Given the description of an element on the screen output the (x, y) to click on. 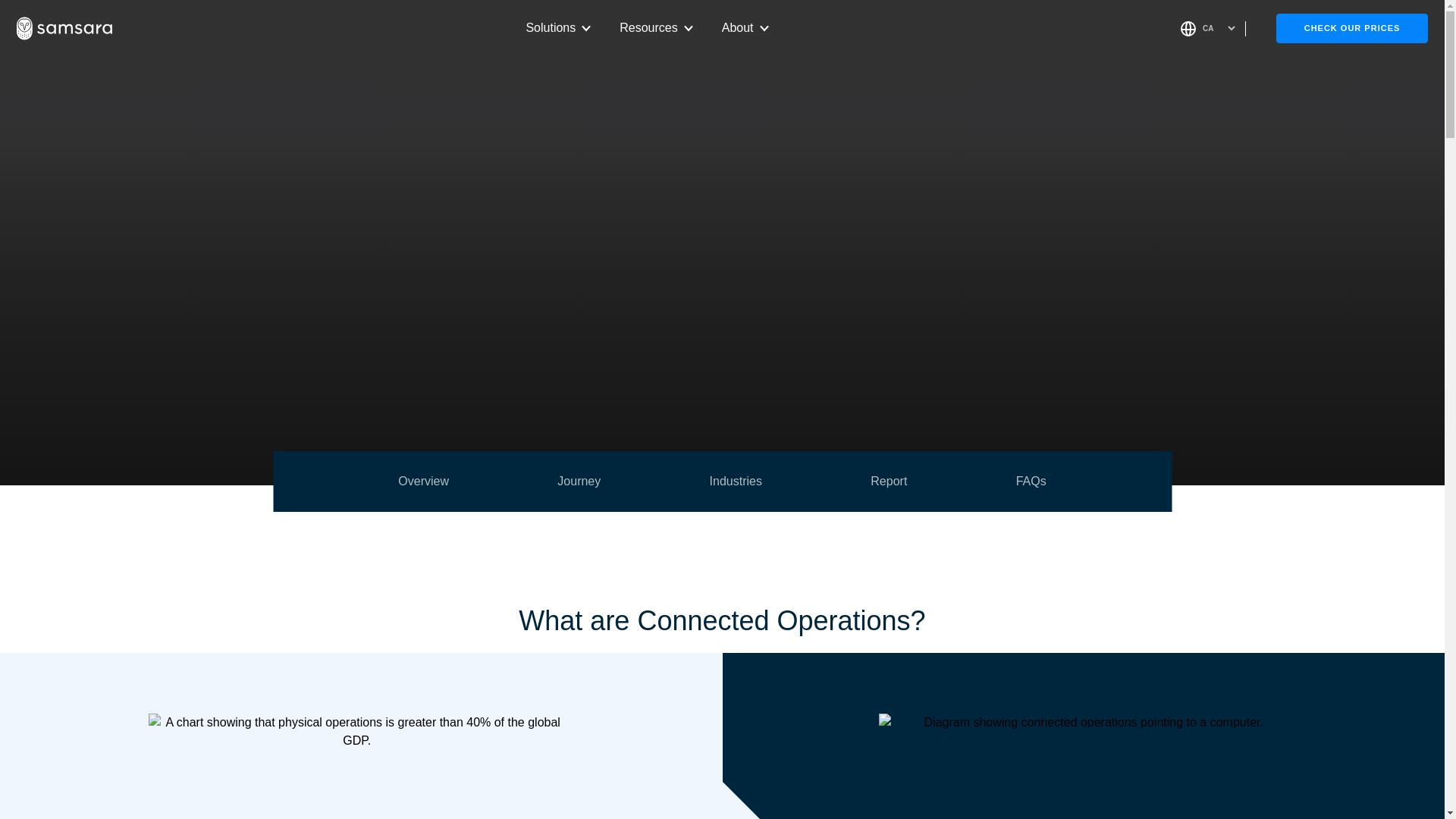
CHECK OUR PRICES (722, 481)
